Given the description of an element on the screen output the (x, y) to click on. 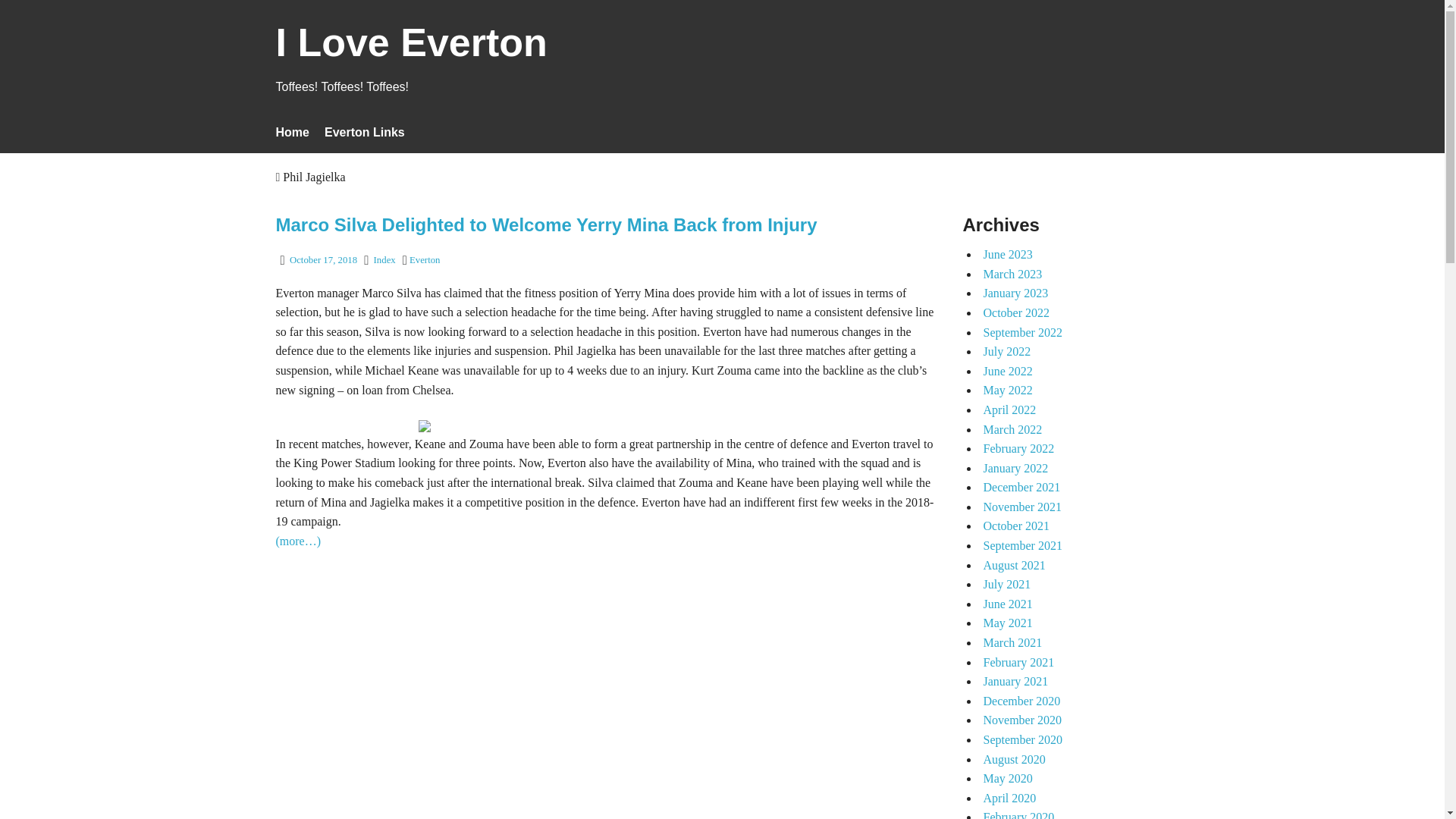
I Love Everton (411, 51)
May 2021 (1007, 622)
Index (385, 259)
February 2021 (1018, 662)
Marco Silva Delighted to Welcome Yerry Mina Back from Injury (546, 224)
November 2021 (1021, 506)
August 2021 (1013, 564)
Everton Links (364, 132)
September 2020 (1021, 739)
March 2021 (1012, 642)
October 2022 (1015, 312)
August 2020 (1013, 758)
June 2022 (1007, 370)
June 2021 (1007, 603)
